Given the description of an element on the screen output the (x, y) to click on. 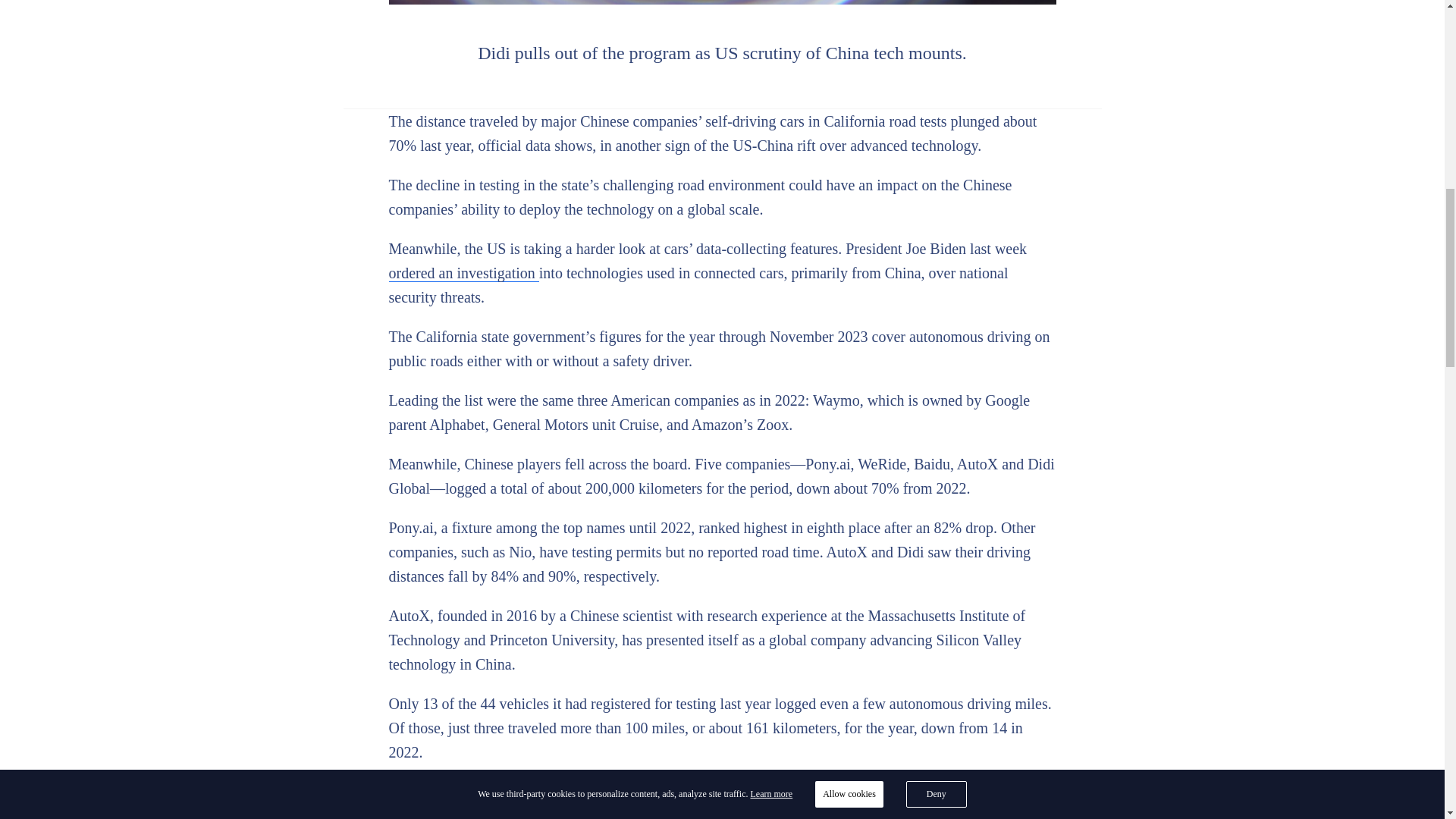
ordered an investigation  (463, 272)
